Given the description of an element on the screen output the (x, y) to click on. 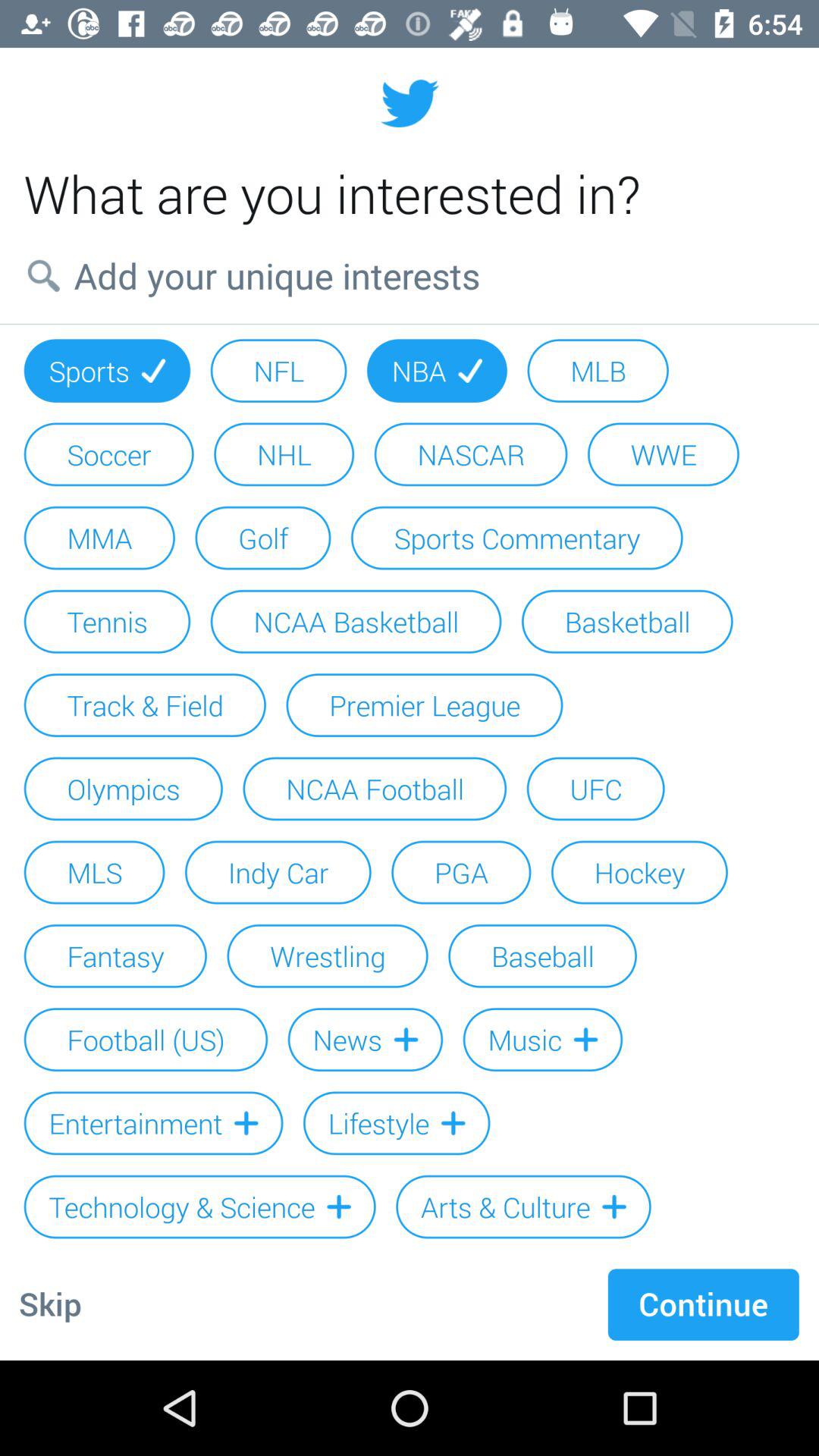
open football (us) icon (145, 1039)
